Given the description of an element on the screen output the (x, y) to click on. 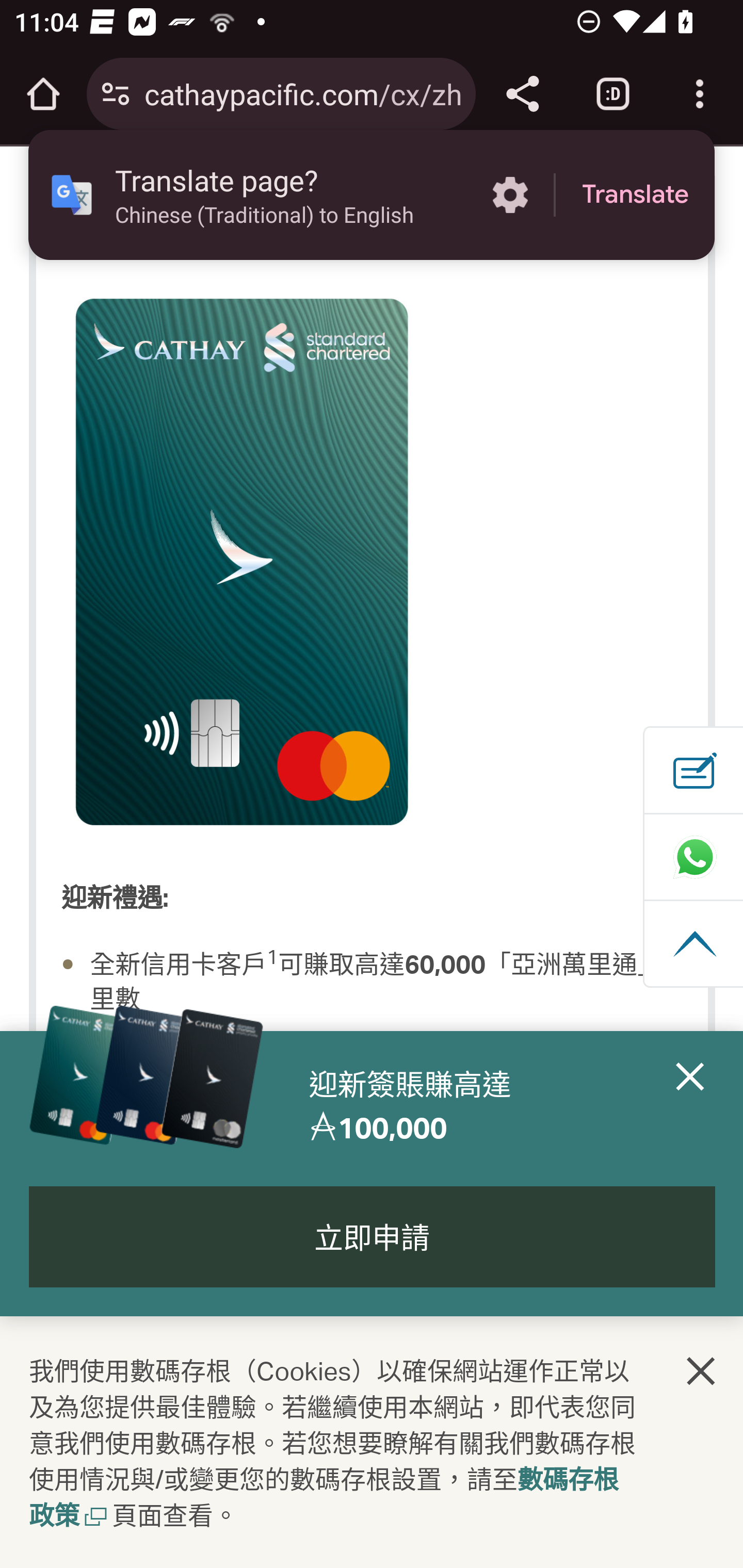
Open the home page (43, 93)
Connection is secure (115, 93)
Share (522, 93)
Switch or close tabs (612, 93)
Customize and control Google Chrome (699, 93)
Translate (634, 195)
More options in the Translate page? (509, 195)
Close (690, 1105)
關閉 (701, 1372)
數碼存根政策, 在新窗口中打开 數碼存根政策 開啟新視窗 (323, 1498)
